Given the description of an element on the screen output the (x, y) to click on. 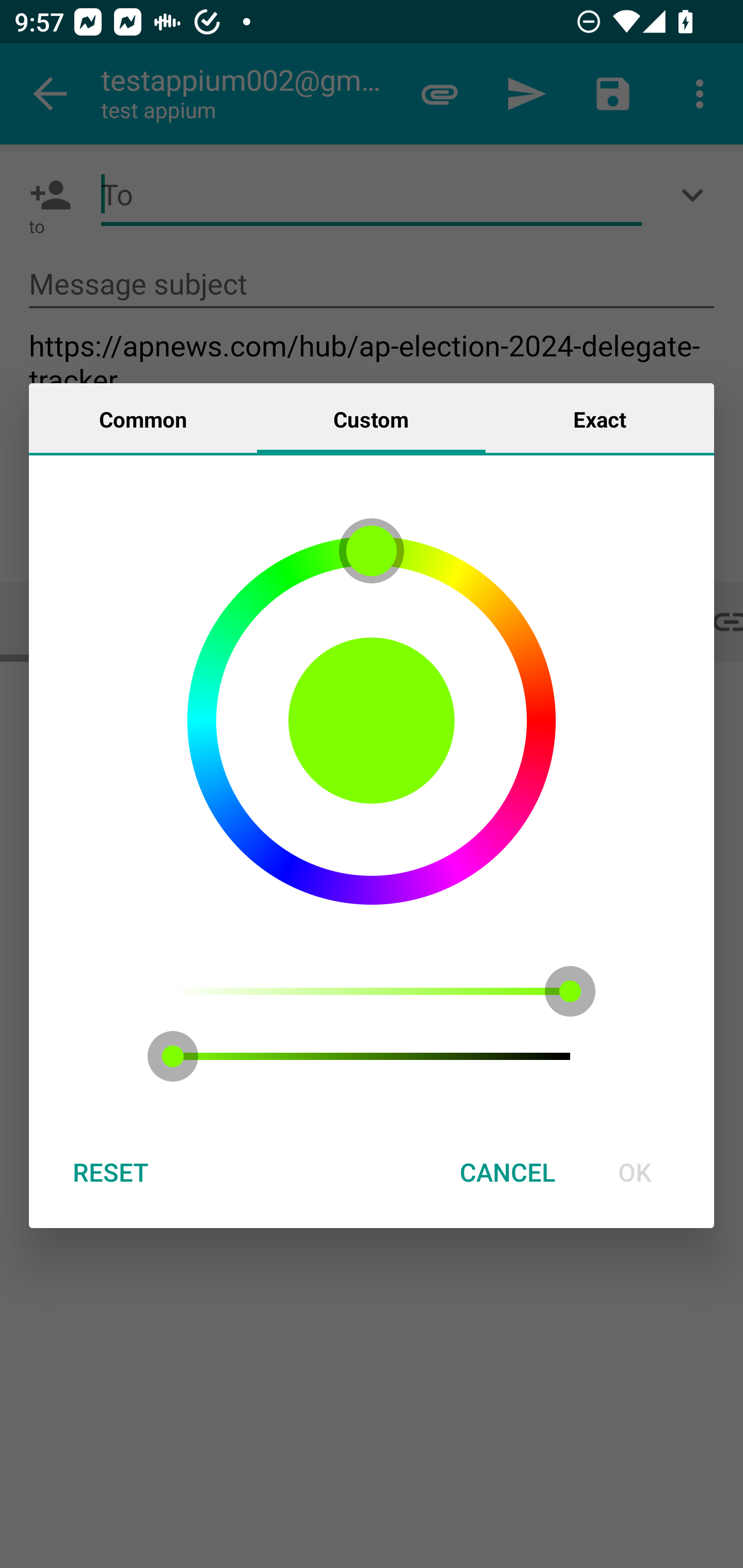
Common (142, 418)
Custom (371, 418)
Exact (599, 418)
RESET (110, 1171)
CANCEL (507, 1171)
OK (634, 1171)
